Given the description of an element on the screen output the (x, y) to click on. 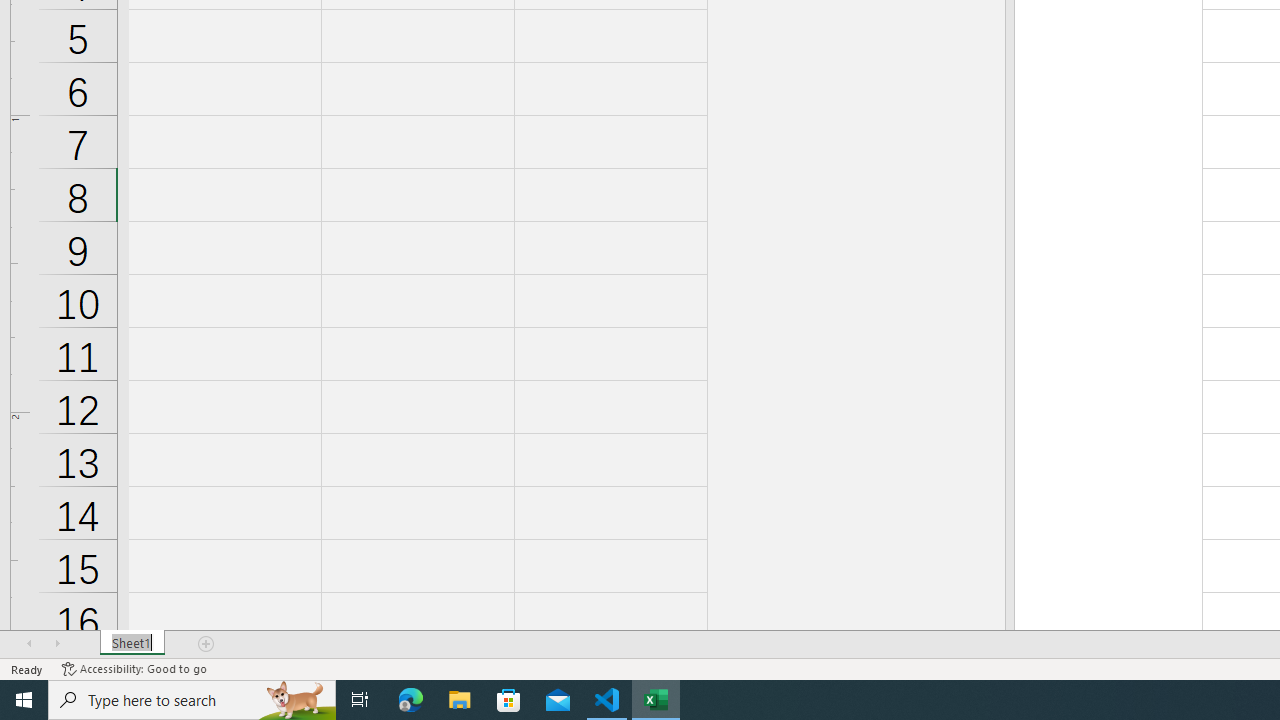
Add Sheet (207, 644)
Accessibility Checker Accessibility: Good to go (134, 668)
Scroll Right (57, 644)
Sheet Tab (132, 644)
Scroll Left (29, 644)
Sheet1 (132, 644)
